Given the description of an element on the screen output the (x, y) to click on. 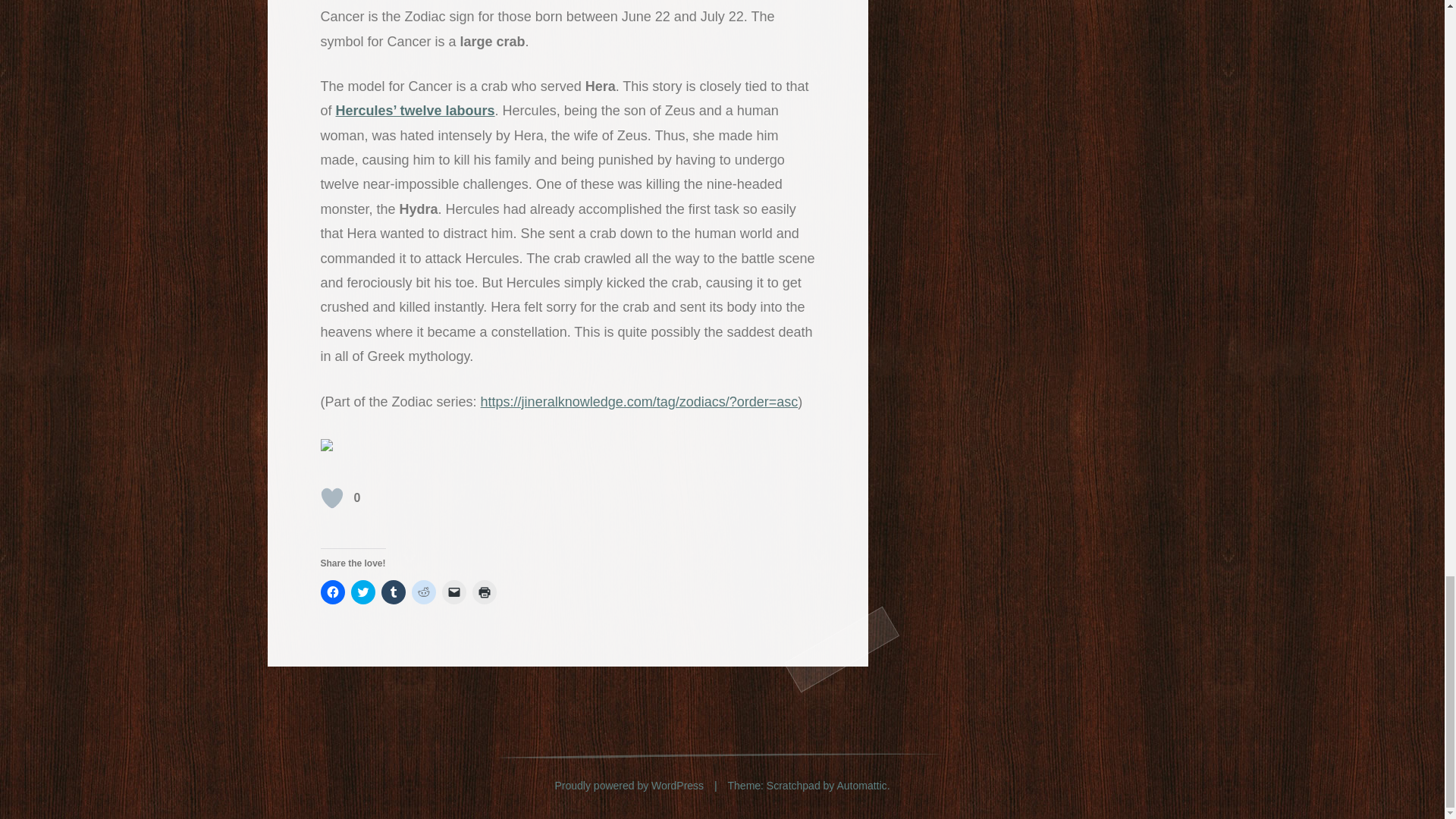
Click to print (483, 591)
Click to share on Facebook (331, 591)
Click to email a link to a friend (453, 591)
Click to share on Twitter (362, 591)
Click to share on Reddit (422, 591)
Click to share on Tumblr (392, 591)
